Given the description of an element on the screen output the (x, y) to click on. 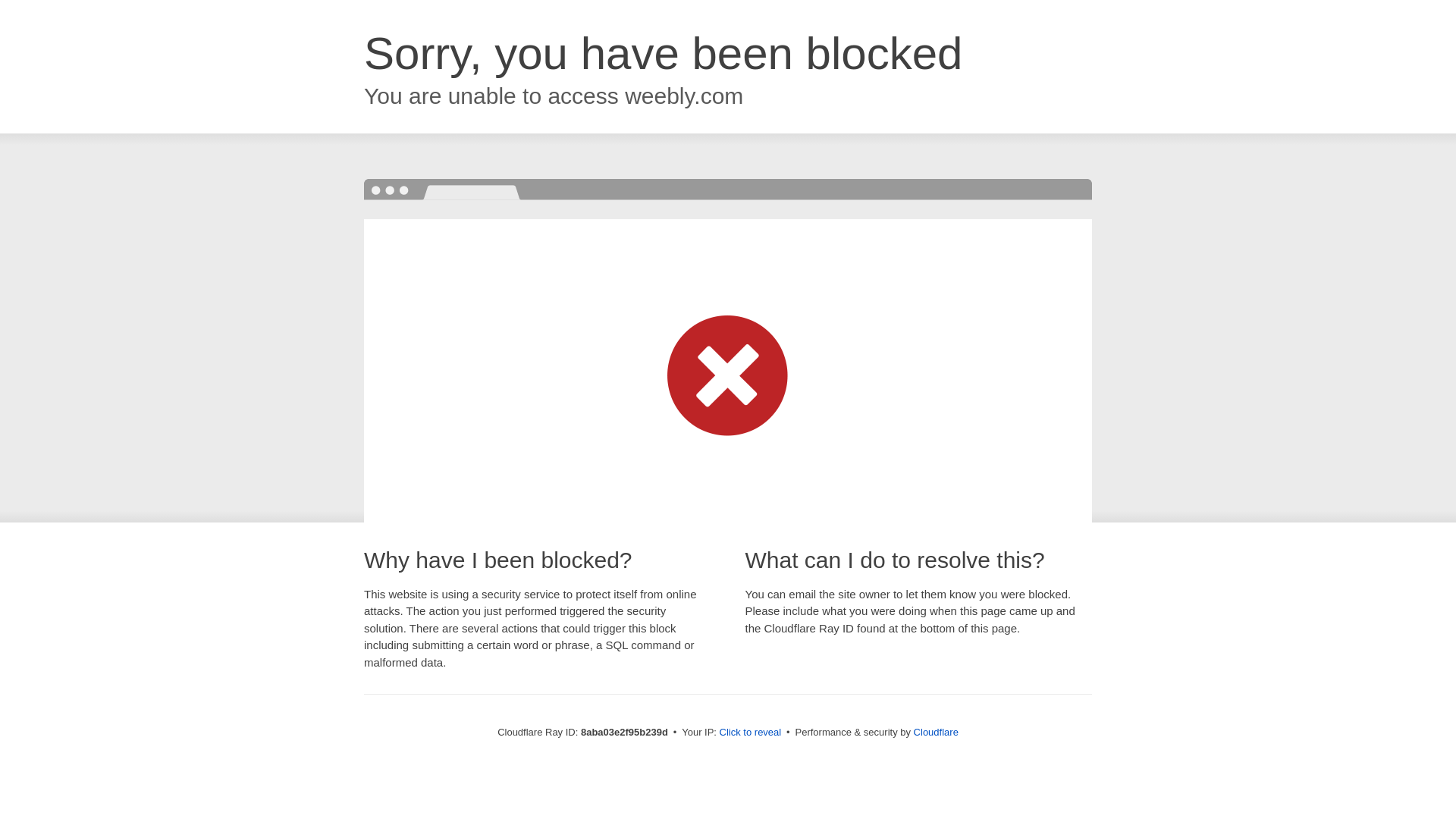
Click to reveal (750, 732)
Cloudflare (936, 731)
